Given the description of an element on the screen output the (x, y) to click on. 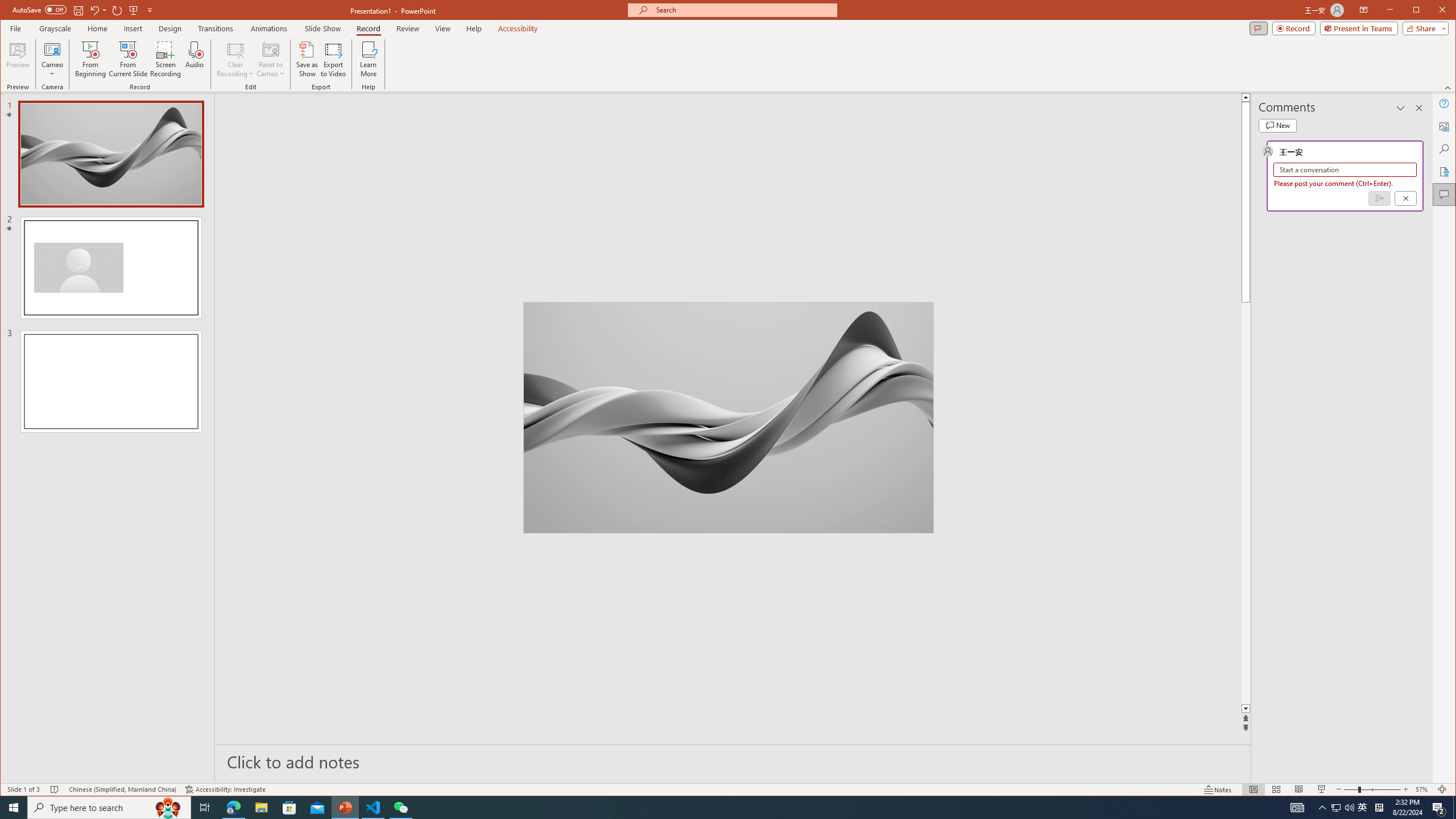
Zoom 57% (1422, 789)
Wavy 3D art (728, 417)
Start a conversation (1344, 169)
